Given the description of an element on the screen output the (x, y) to click on. 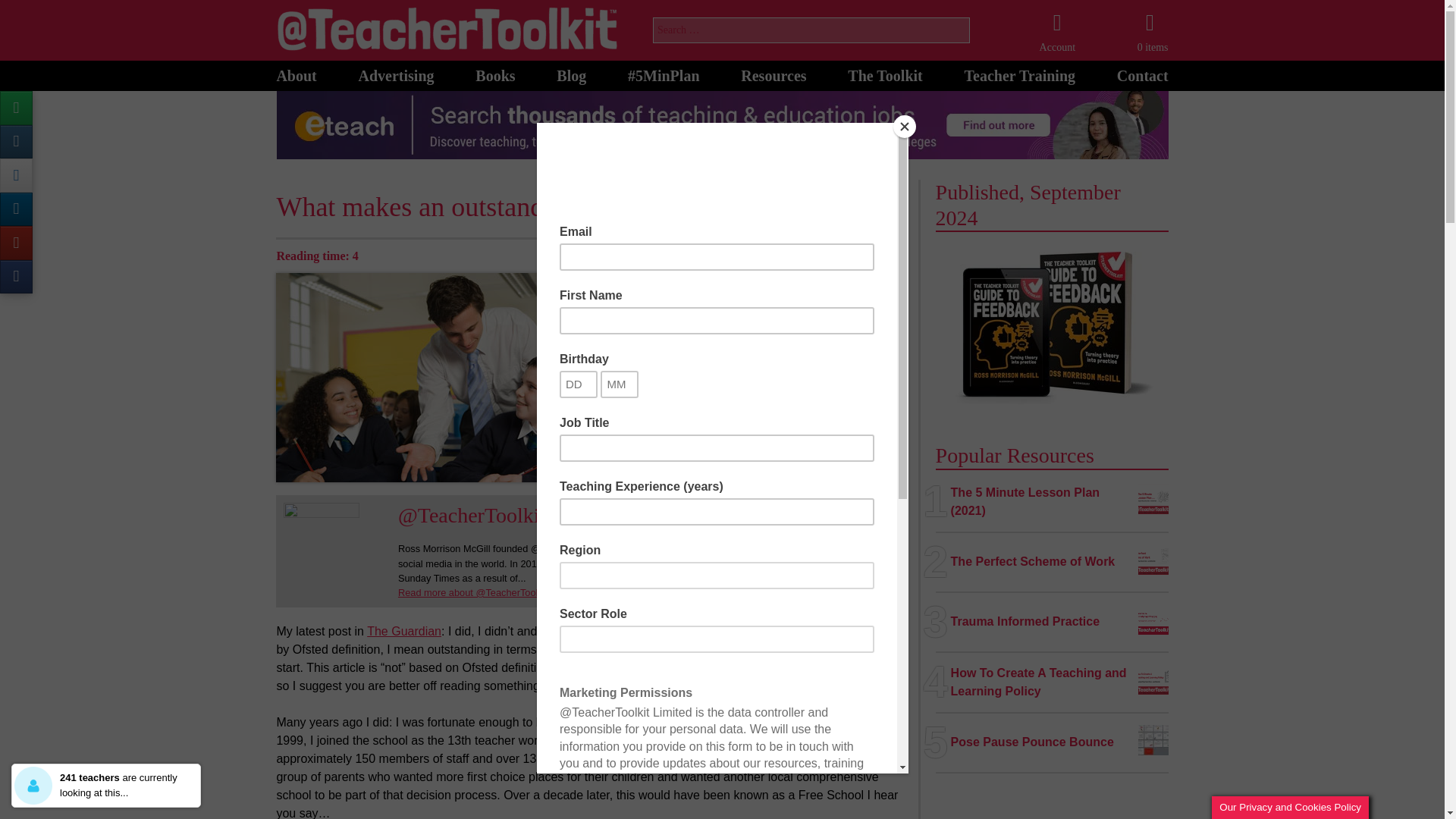
Account (1057, 29)
Books (495, 71)
About (295, 71)
TeacherToolkit  on Facebook (16, 277)
Looking for impact? (1019, 71)
Research-informed and pragmatic reading! (571, 71)
Advertising (395, 71)
TeacherToolkit  on Linkedin (16, 209)
Contact (1142, 71)
The Toolkit (884, 71)
A global phenomenon!  (662, 71)
Resources (773, 71)
WhatsApp (16, 107)
Over 250,000 downloads! (773, 71)
Grab a sign copy? (495, 71)
